Given the description of an element on the screen output the (x, y) to click on. 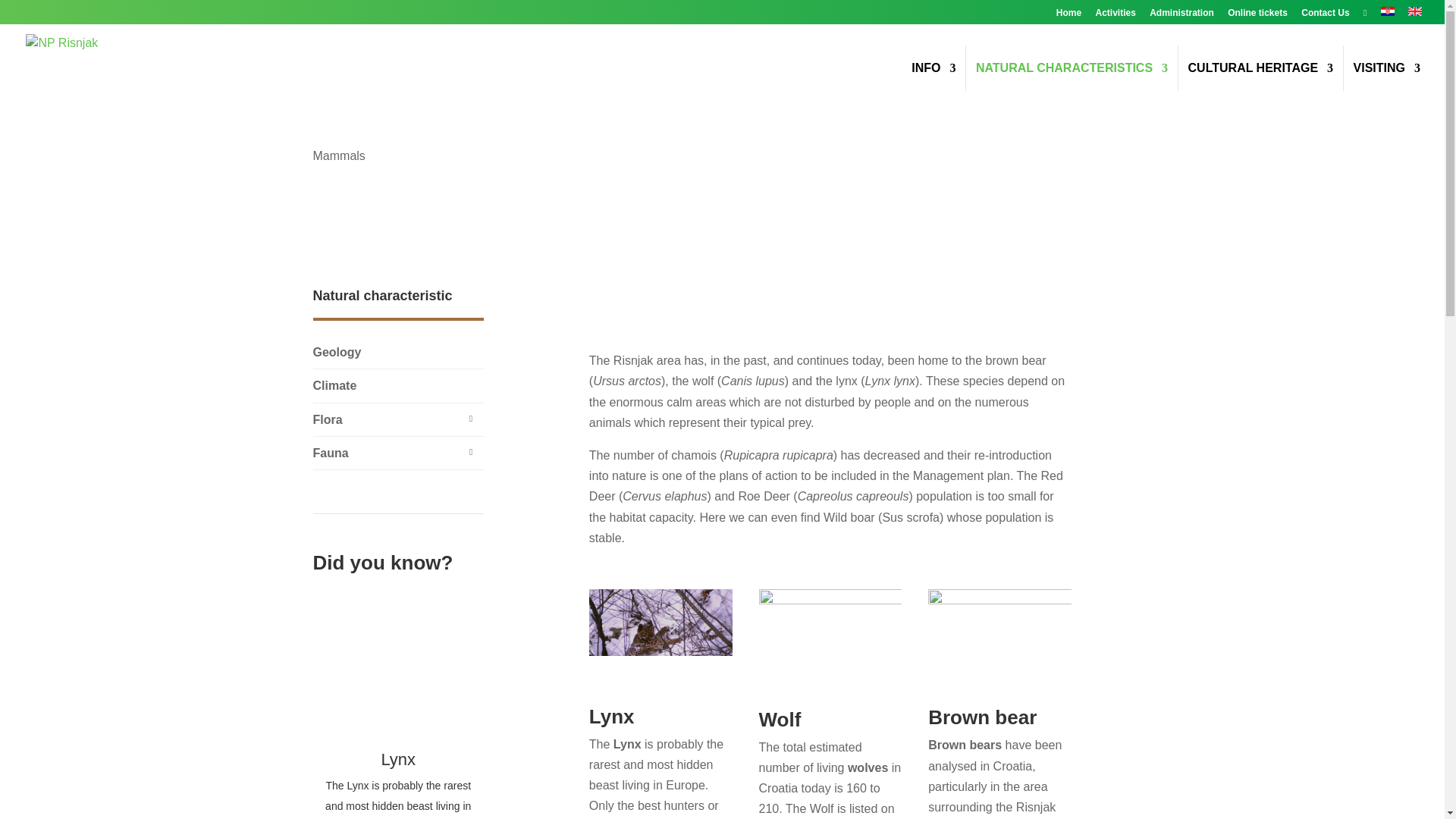
Contact Us (1325, 16)
Administration (1182, 16)
Climate (398, 385)
Online tickets (1257, 16)
Geology (398, 351)
NATURAL CHARACTERISTICS (1071, 86)
Flora (398, 419)
VISITING (1387, 86)
Home (1069, 16)
CULTURAL HERITAGE (1260, 86)
